Given the description of an element on the screen output the (x, y) to click on. 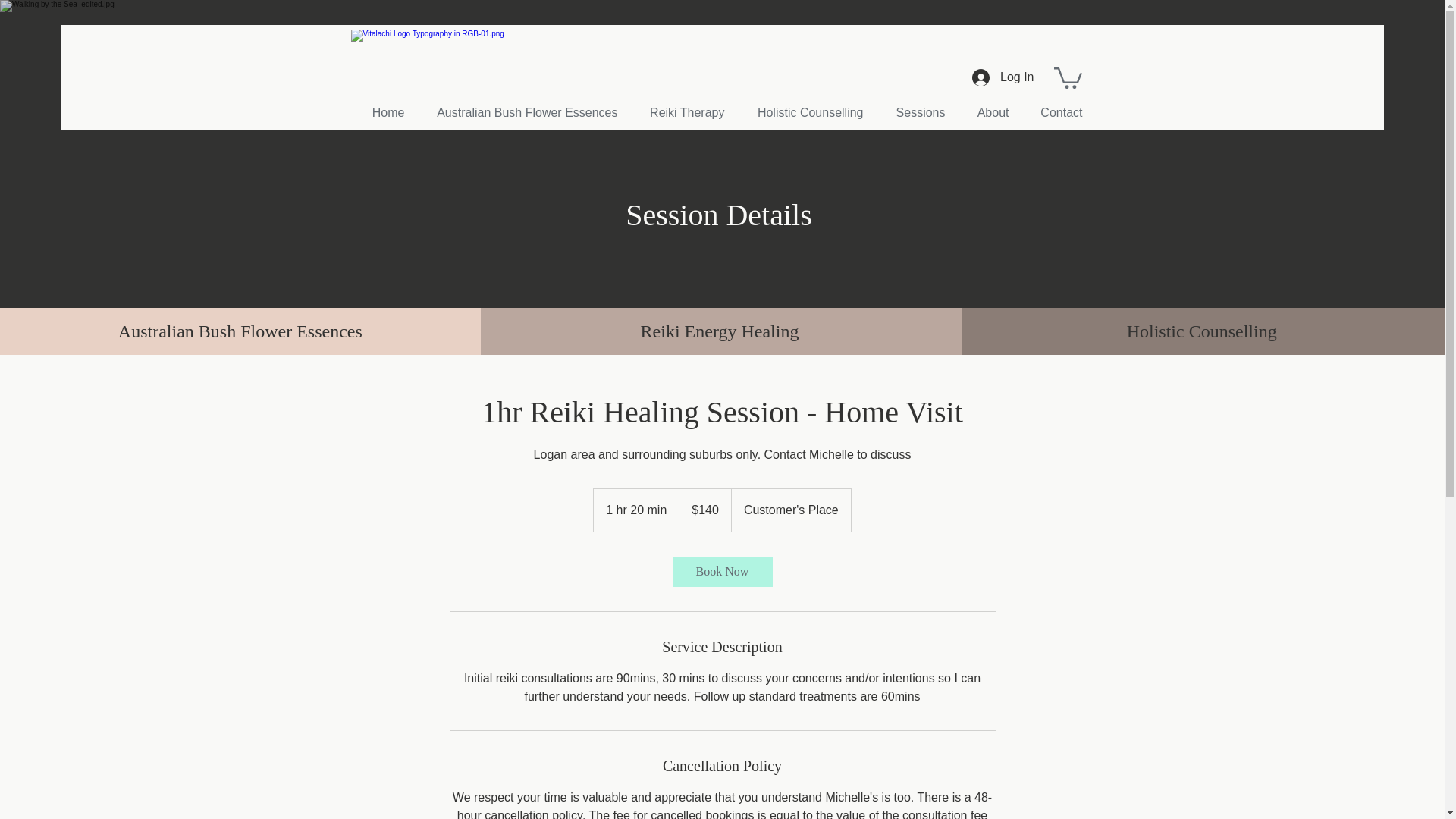
Holistic Counselling (1201, 331)
Book Now (721, 571)
Australian Bush Flower Essences (239, 331)
Holistic Counselling (805, 112)
Reiki Therapy (682, 112)
Reiki Energy Healing (719, 331)
Contact (1057, 112)
About (988, 112)
Home (382, 112)
Australian Bush Flower Essences (521, 112)
Log In (1001, 76)
Sessions (915, 112)
